Given the description of an element on the screen output the (x, y) to click on. 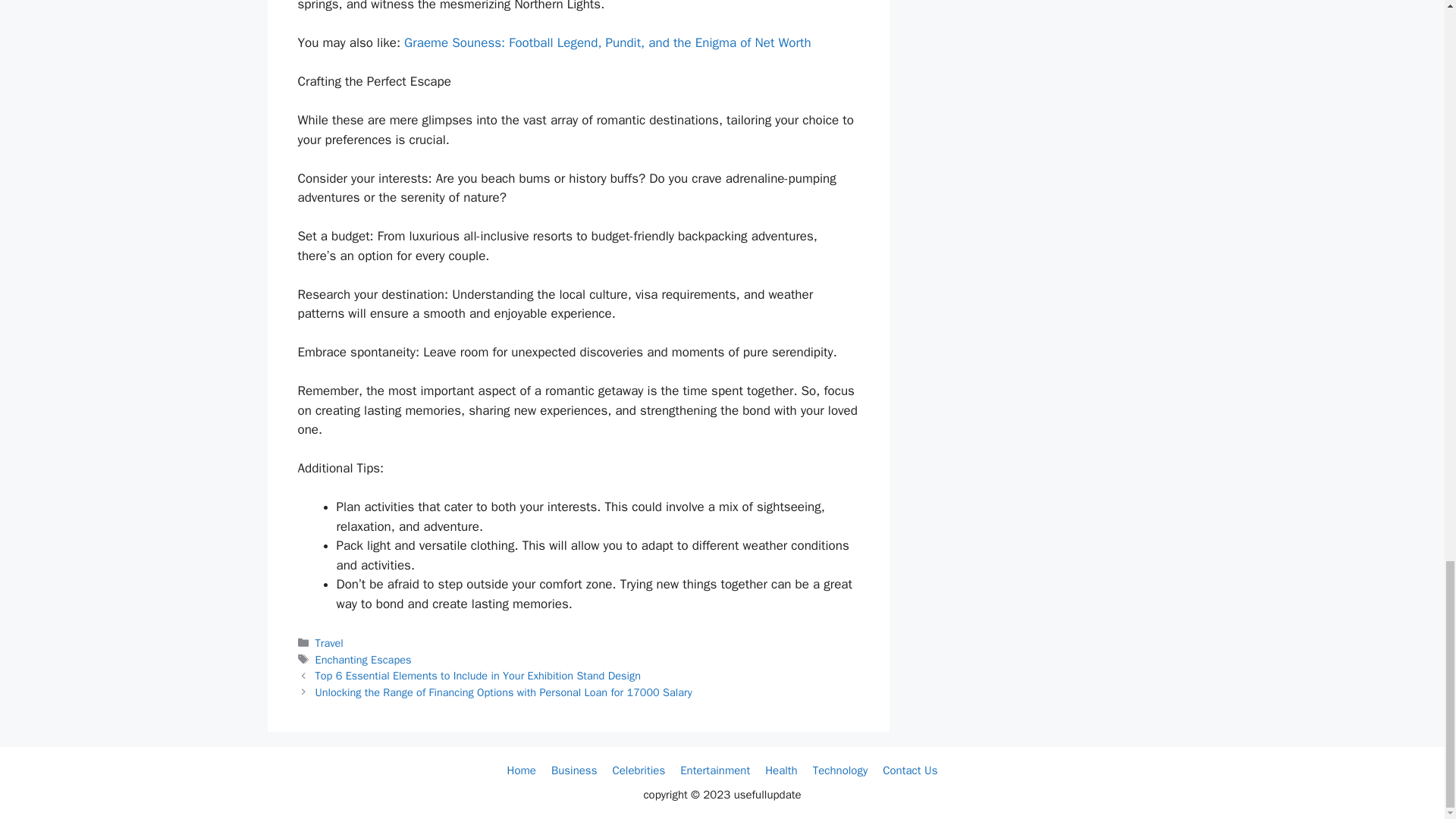
Enchanting Escapes (363, 659)
Travel (329, 643)
